Given the description of an element on the screen output the (x, y) to click on. 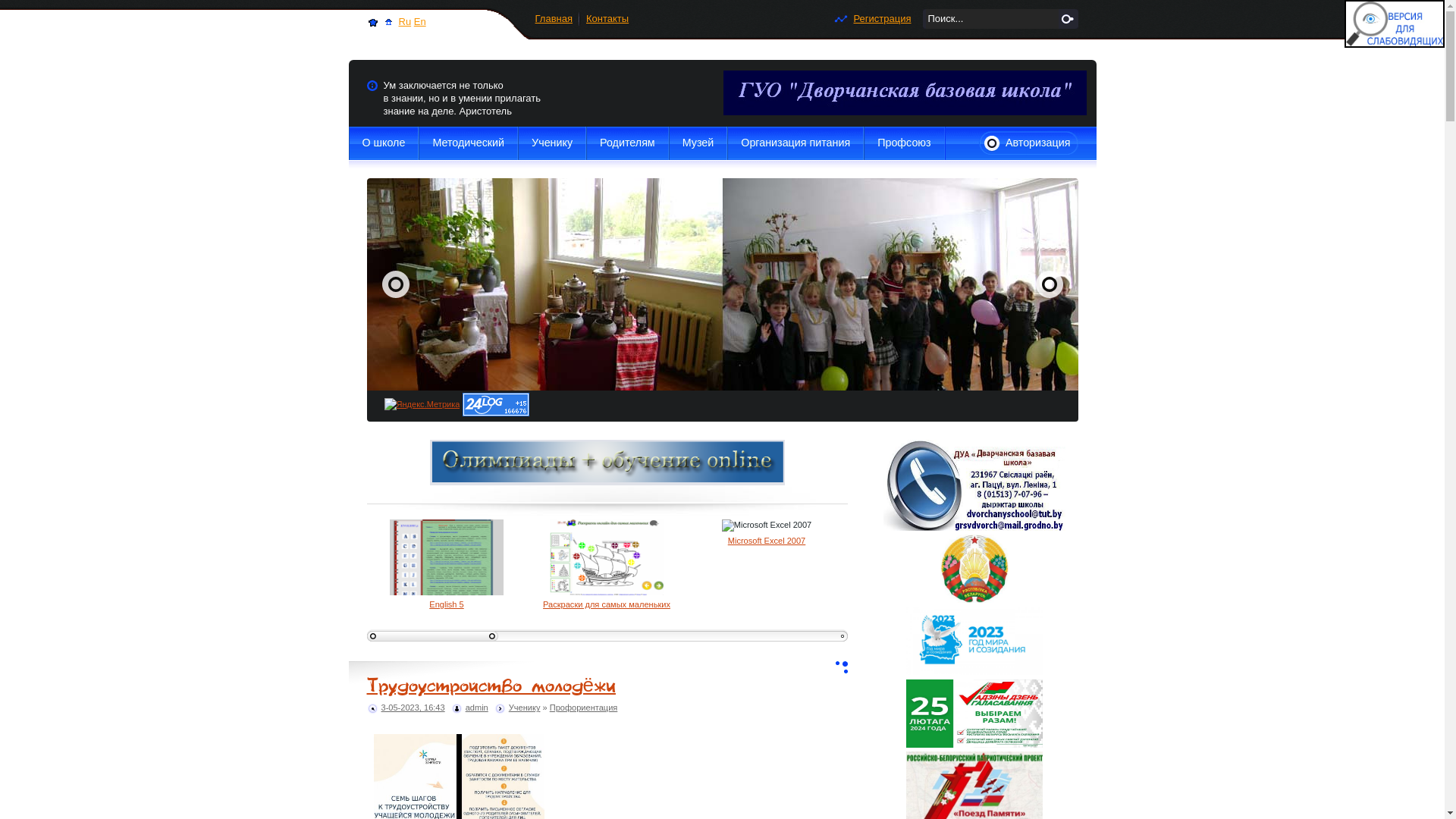
Microsoft Excel 2007 Element type: text (767, 540)
< Element type: text (1049, 284)
> Element type: text (395, 284)
Ru Element type: text (404, 21)
3-05-2023, 16:43 Element type: text (412, 707)
English 5 Element type: text (446, 603)
<...> Element type: text (432, 635)
En Element type: text (420, 21)
admin Element type: text (476, 707)
Besucherzahler  Element type: hover (476, 396)
